Given the description of an element on the screen output the (x, y) to click on. 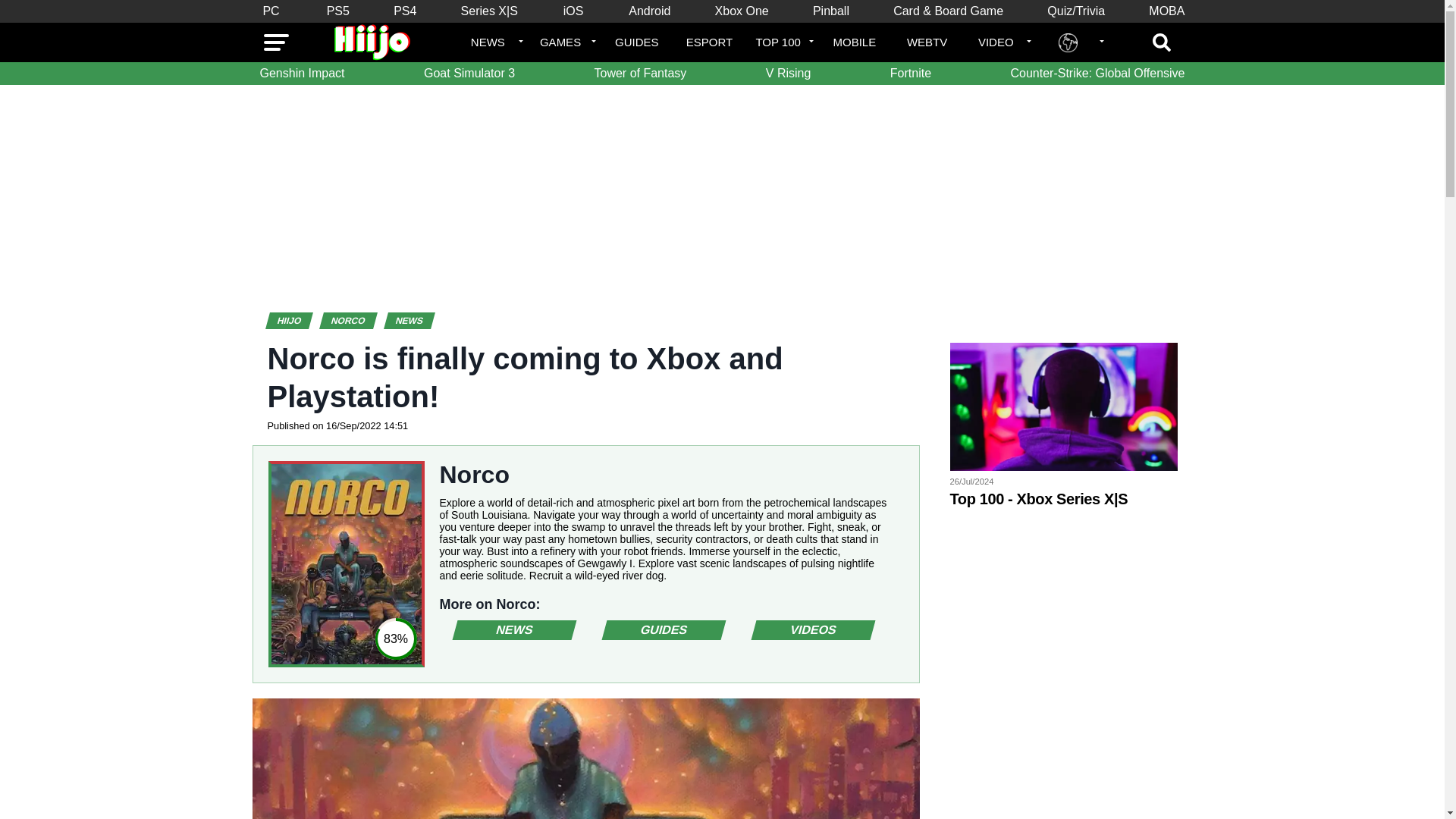
Goat Simulator 3 (469, 73)
Tower of Fantasy (640, 73)
PlayStation 5 (337, 11)
Android (649, 11)
Fortnite (910, 73)
PlayStation 4 (404, 11)
Pinball (831, 11)
Xbox One (741, 11)
V Rising (788, 73)
MOBA (1166, 11)
Counter-Strike: Global Offensive (1097, 73)
iOS (573, 11)
Genshin Impact (301, 73)
Hiijo (296, 320)
